Given the description of an element on the screen output the (x, y) to click on. 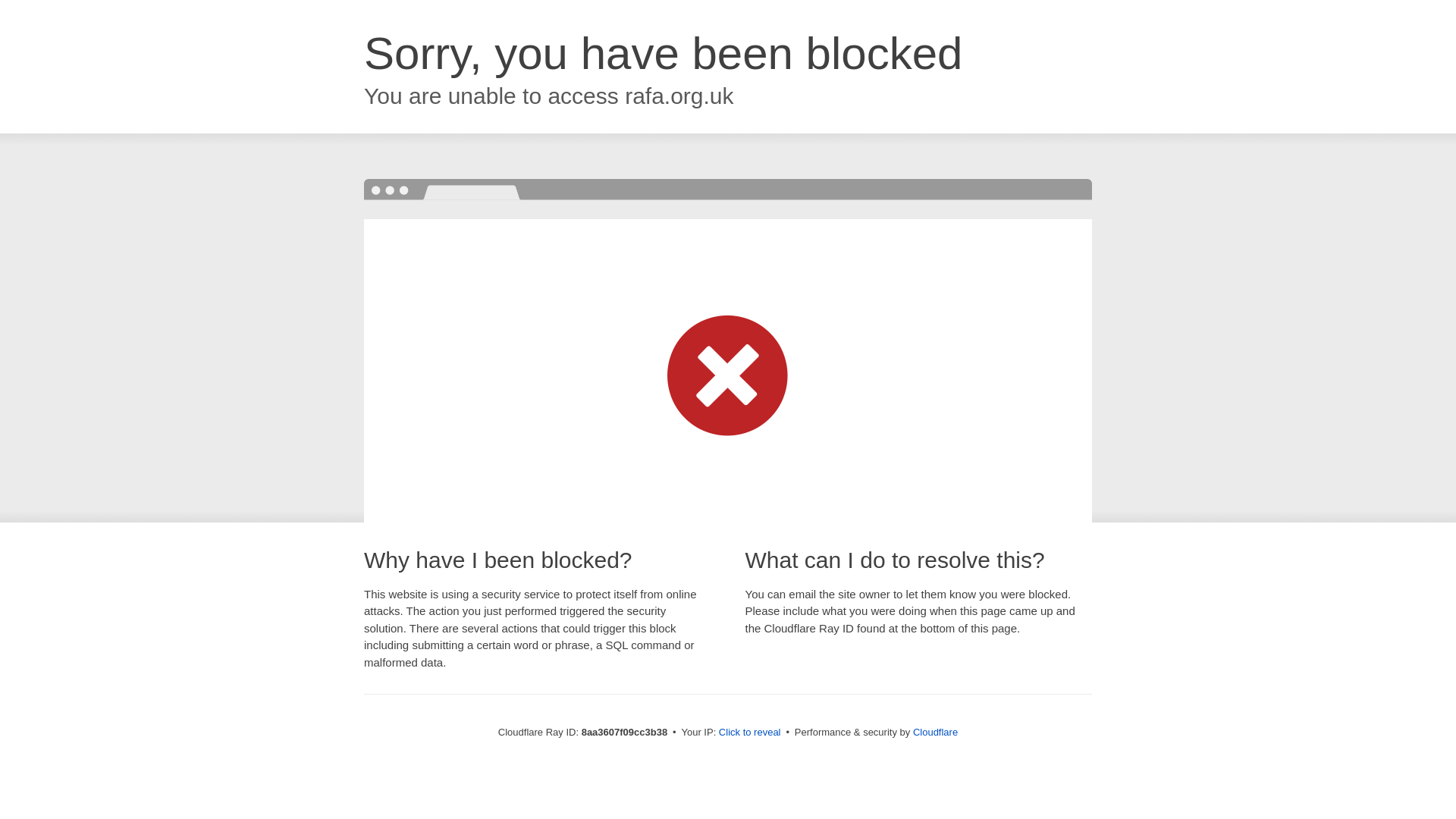
Cloudflare (935, 731)
Click to reveal (749, 732)
